Given the description of an element on the screen output the (x, y) to click on. 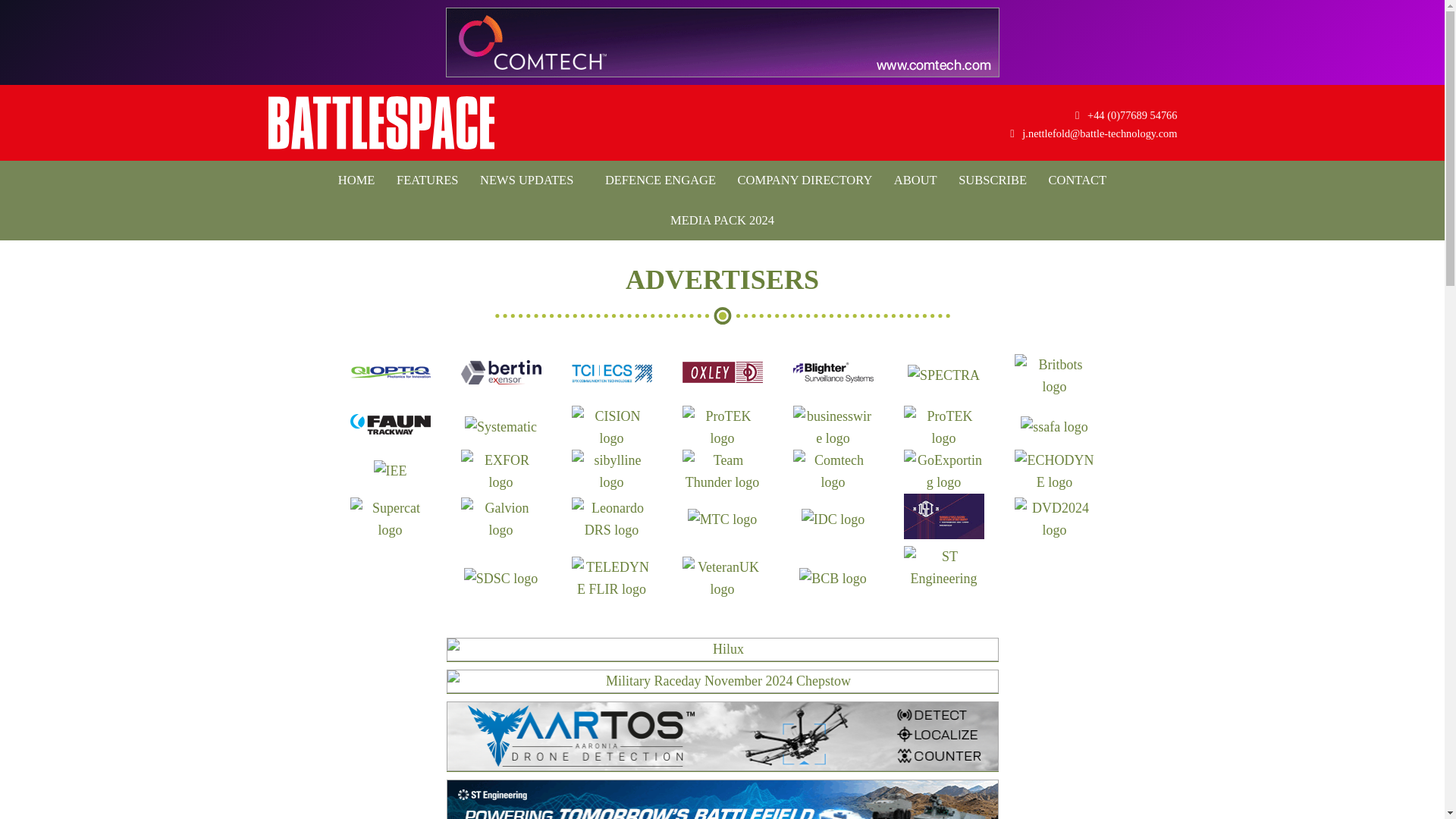
CONTACT (1077, 180)
DEFENCE ENGAGE (655, 180)
NEWS UPDATES (526, 180)
COMPANY DIRECTORY (805, 180)
BATTLESPACE Updates (380, 122)
MEDIA PACK 2024 (722, 219)
Opens PDF in new window. (722, 219)
qioptiq.com (390, 381)
ABOUT (915, 180)
SUBSCRIBE (992, 180)
HOME (356, 180)
FEATURES (427, 180)
